Given the description of an element on the screen output the (x, y) to click on. 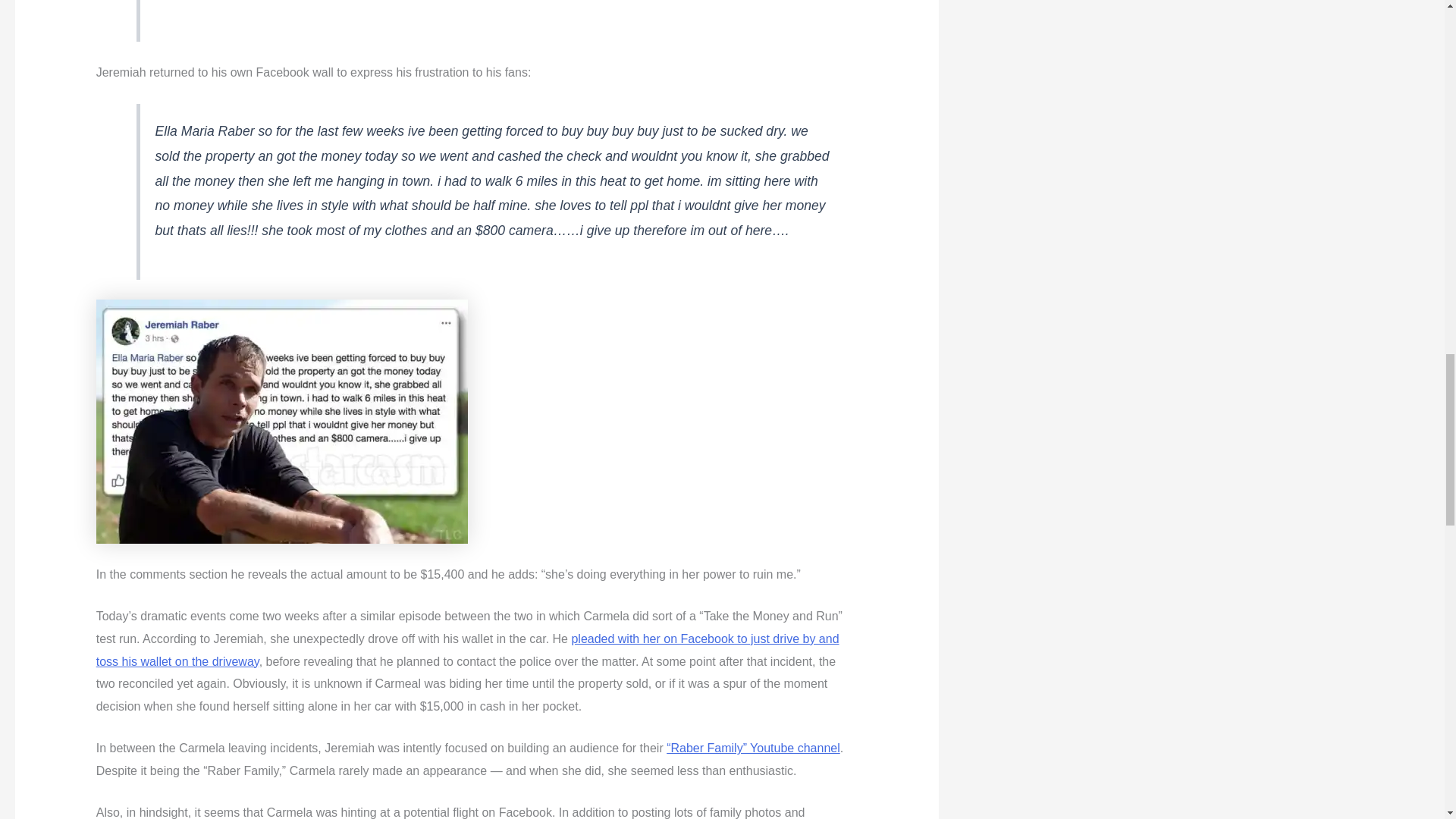
Jeremiah Raber and Carmela split up again (281, 421)
